Given the description of an element on the screen output the (x, y) to click on. 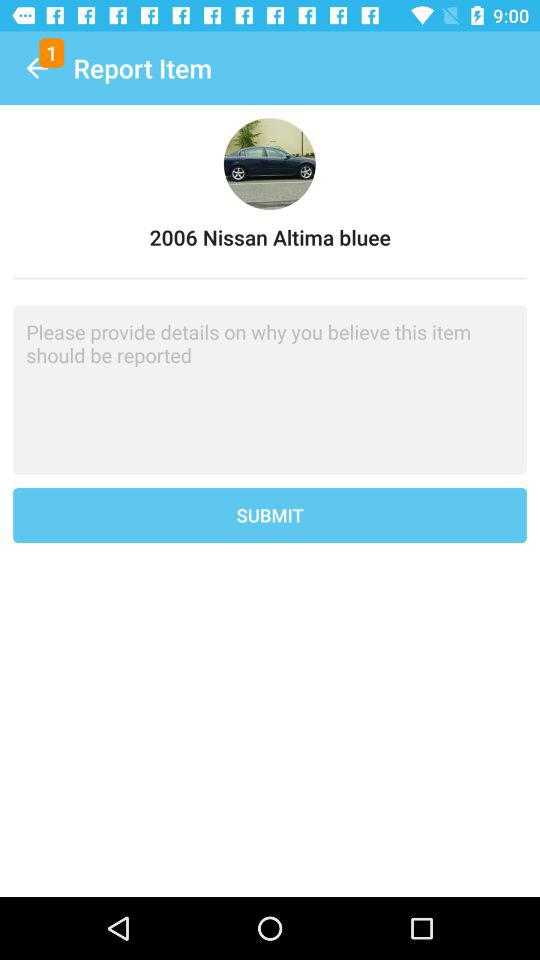
enter report information (269, 389)
